Given the description of an element on the screen output the (x, y) to click on. 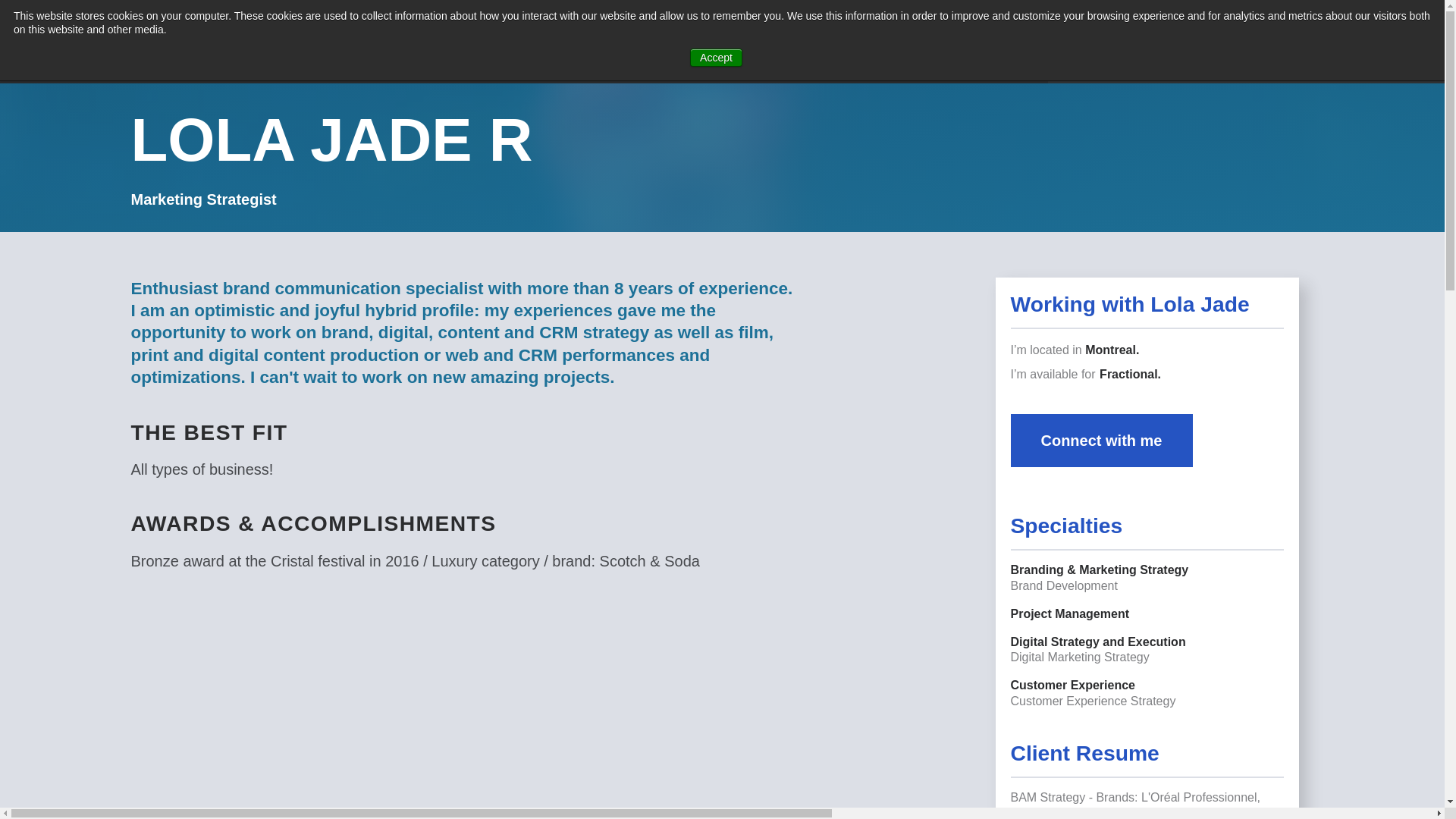
GIGENOMICS (604, 41)
Connect with me (1101, 440)
The Well Creative Consultants (214, 41)
CONTACT (1108, 41)
FIND SPECIALISTS (1232, 41)
PROJECTS (369, 41)
FRACTIONAL (482, 41)
Accept (716, 57)
